Given the description of an element on the screen output the (x, y) to click on. 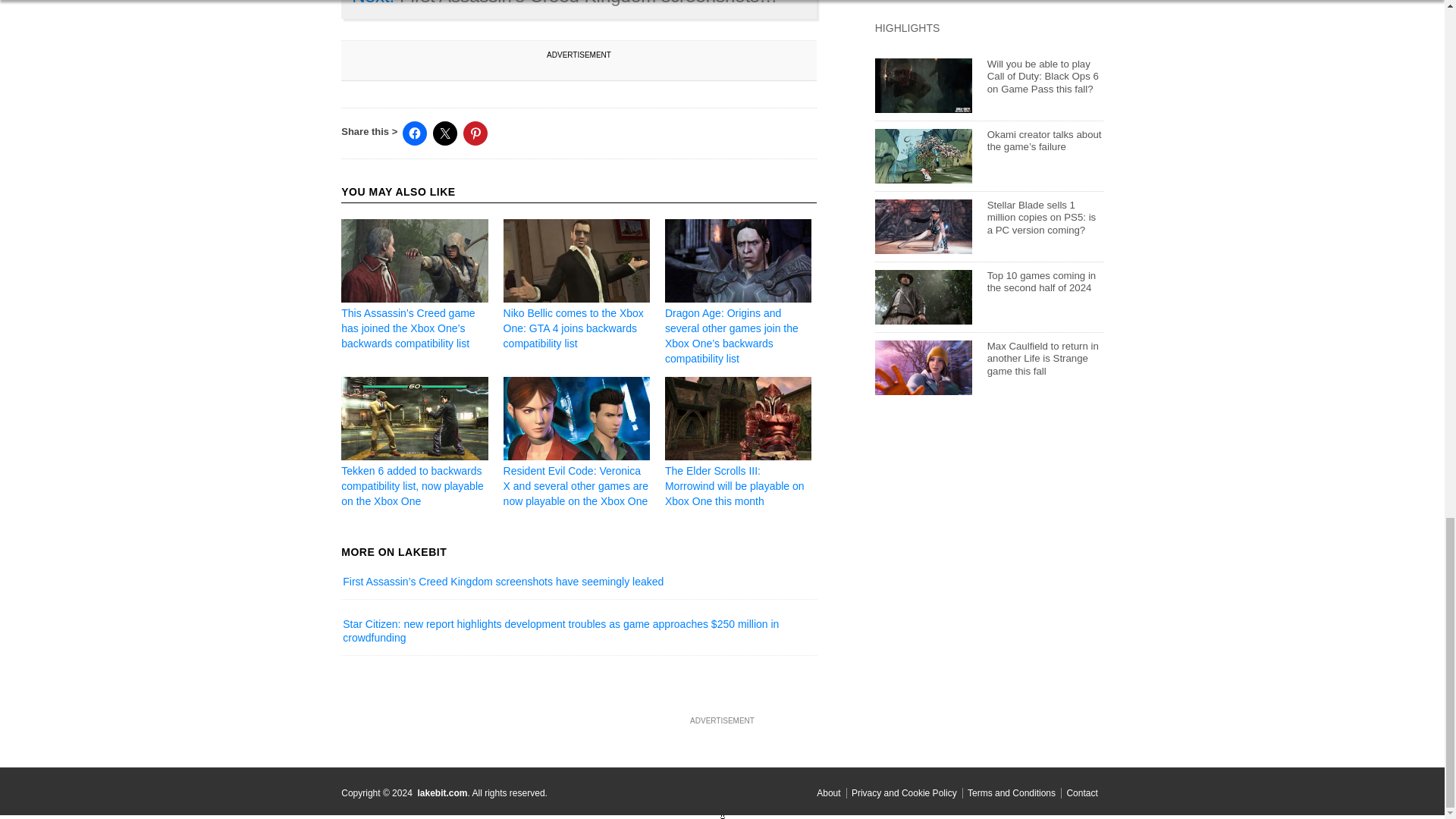
Click to share on Pinterest (475, 133)
Click to share on Facebook (414, 133)
Click to share on X (444, 133)
